Given the description of an element on the screen output the (x, y) to click on. 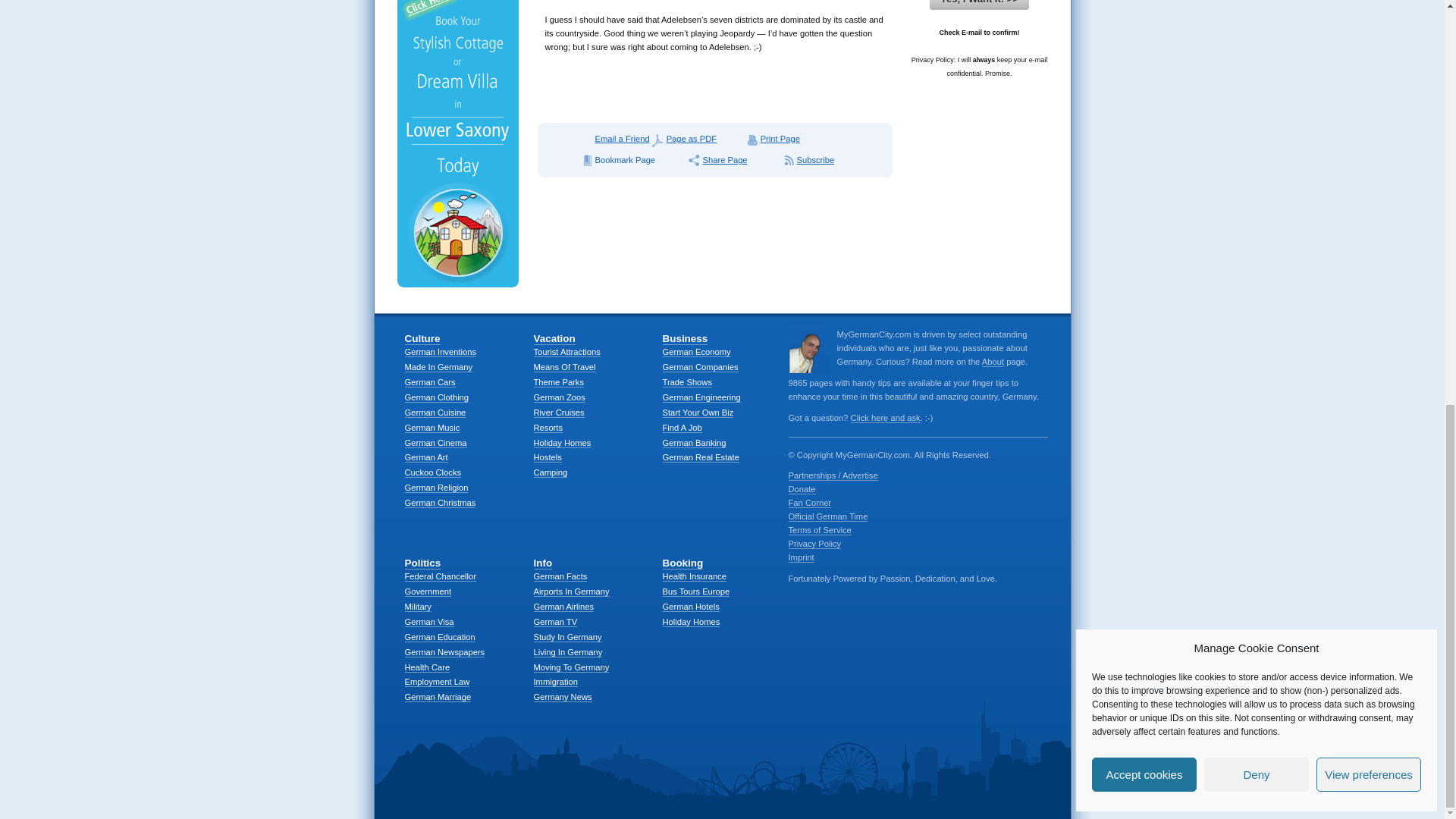
Print this page (780, 138)
Page as PDF (696, 138)
Subscribe (815, 160)
Email a Friend (613, 138)
Share Page (731, 160)
Bookmark Page (631, 160)
Bookmark this Page (631, 160)
Download PDF (696, 138)
Print Page (780, 138)
Email a Friend (613, 138)
